Given the description of an element on the screen output the (x, y) to click on. 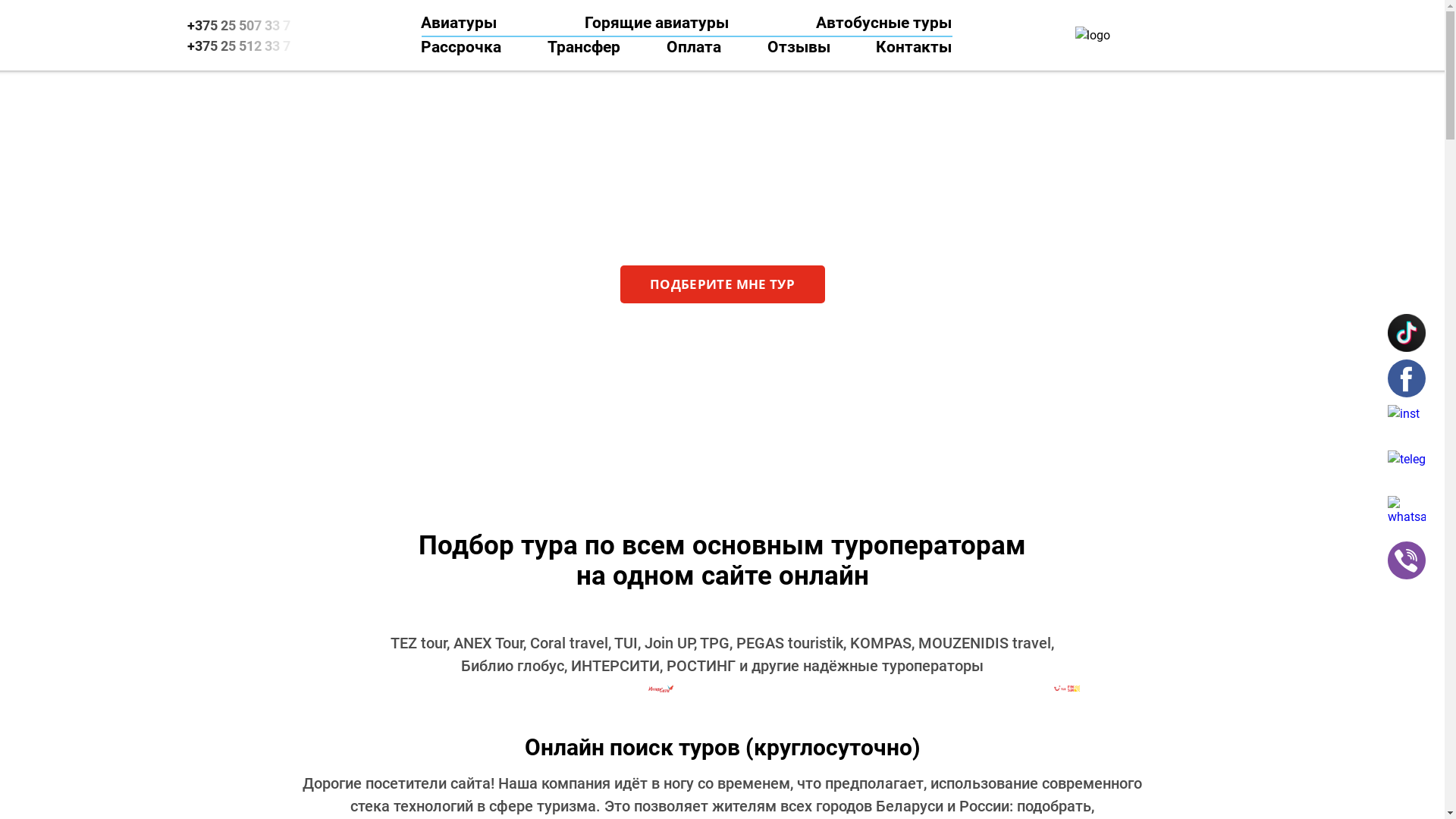
+375 25 512 33 7 Element type: text (242, 44)
+375 25 507 33 7 Element type: text (242, 25)
